Given the description of an element on the screen output the (x, y) to click on. 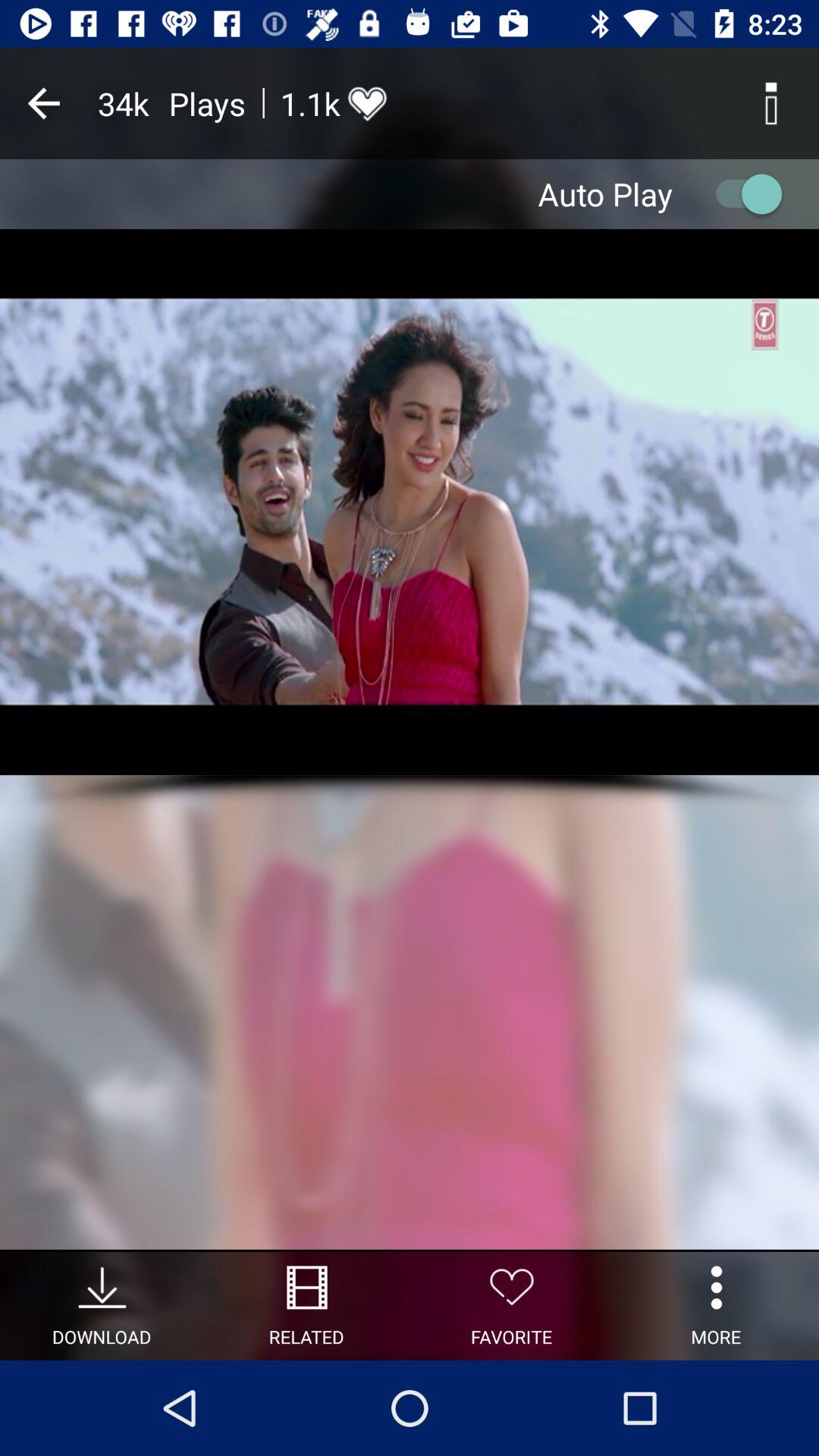
previous page (43, 103)
